Given the description of an element on the screen output the (x, y) to click on. 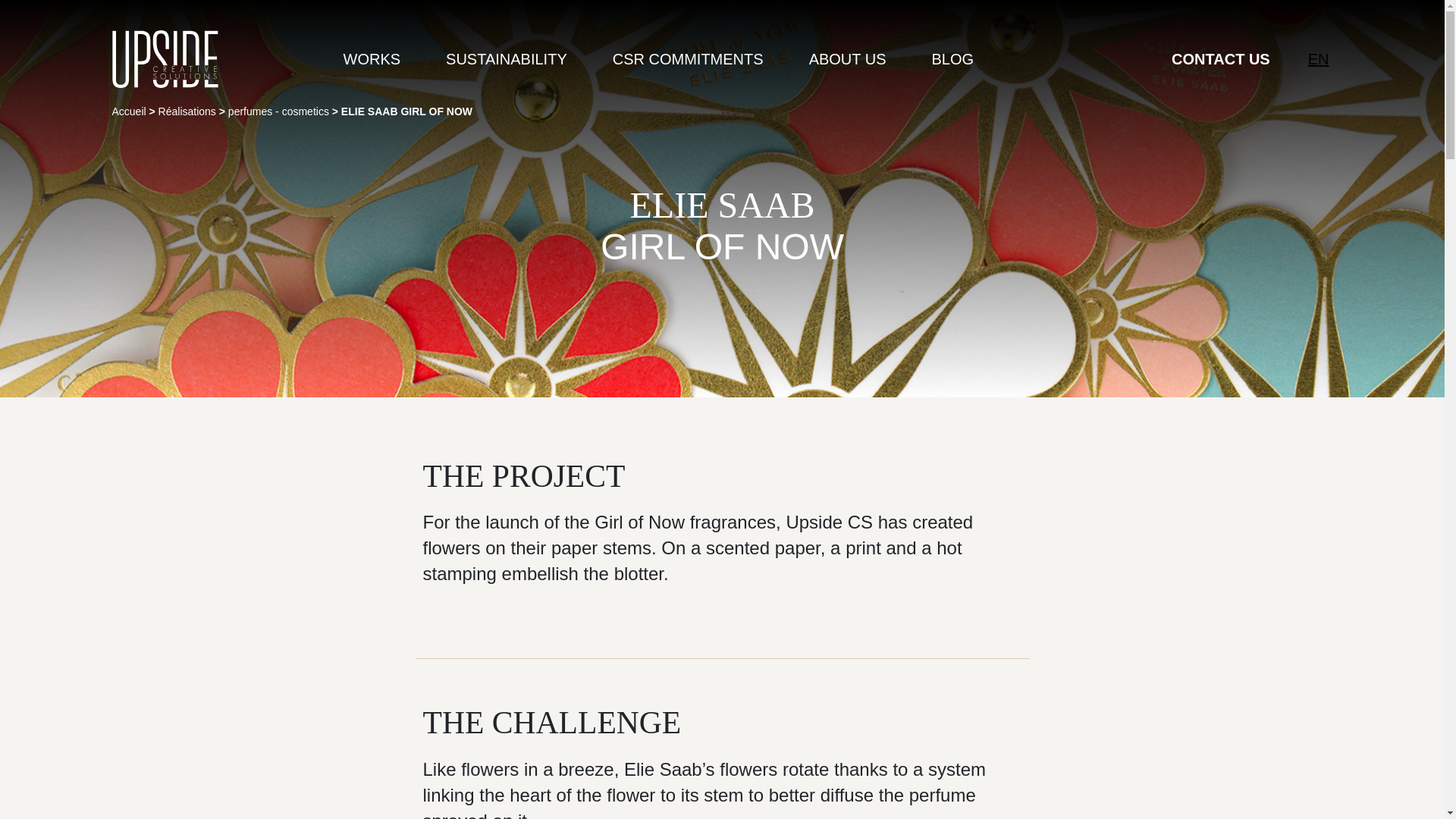
CSR COMMITMENTS (687, 58)
SUSTAINABILITY (506, 58)
WORKS (371, 58)
CONTACT US (1220, 58)
perfumes - cosmetics (278, 111)
Accueil (129, 111)
BLOG (952, 58)
ABOUT US (847, 58)
